Given the description of an element on the screen output the (x, y) to click on. 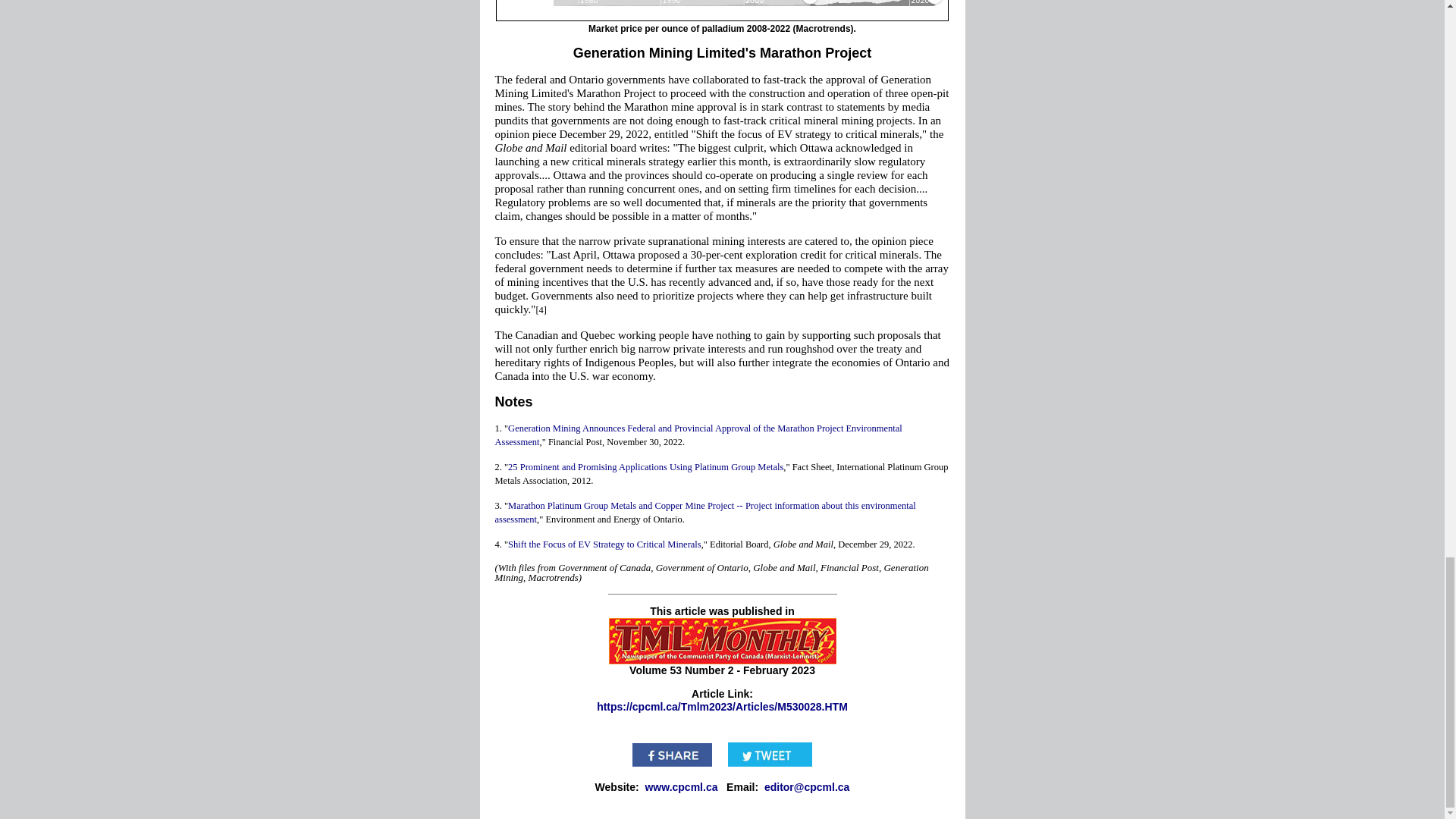
Shift the Focus of EV Strategy to Critical Minerals (604, 543)
Volume 53 Number 2 - February 2023 (721, 670)
www.cpcml.ca (681, 787)
